Given the description of an element on the screen output the (x, y) to click on. 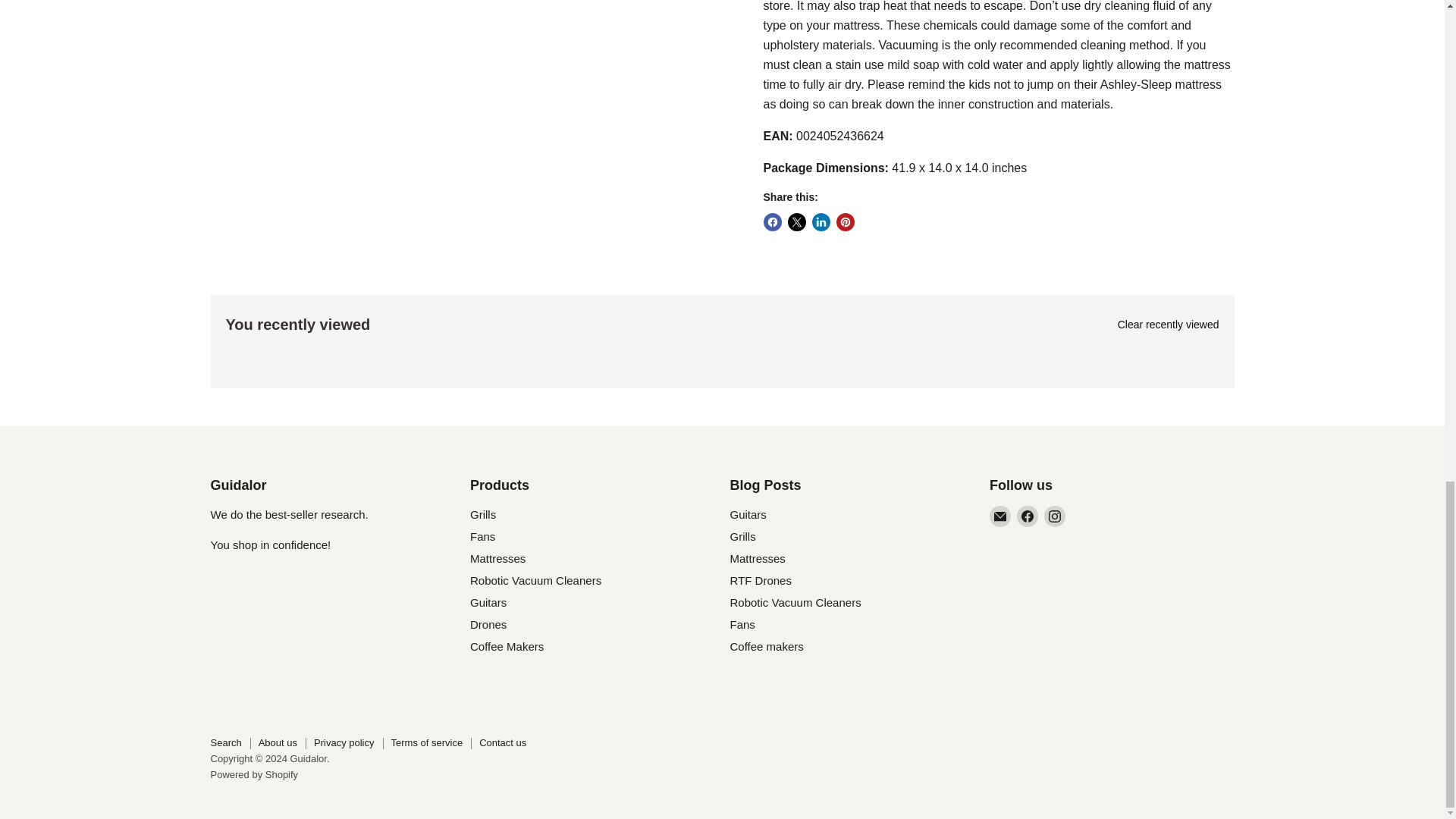
Facebook (1027, 516)
Email (1000, 516)
Instagram (1054, 516)
